Given the description of an element on the screen output the (x, y) to click on. 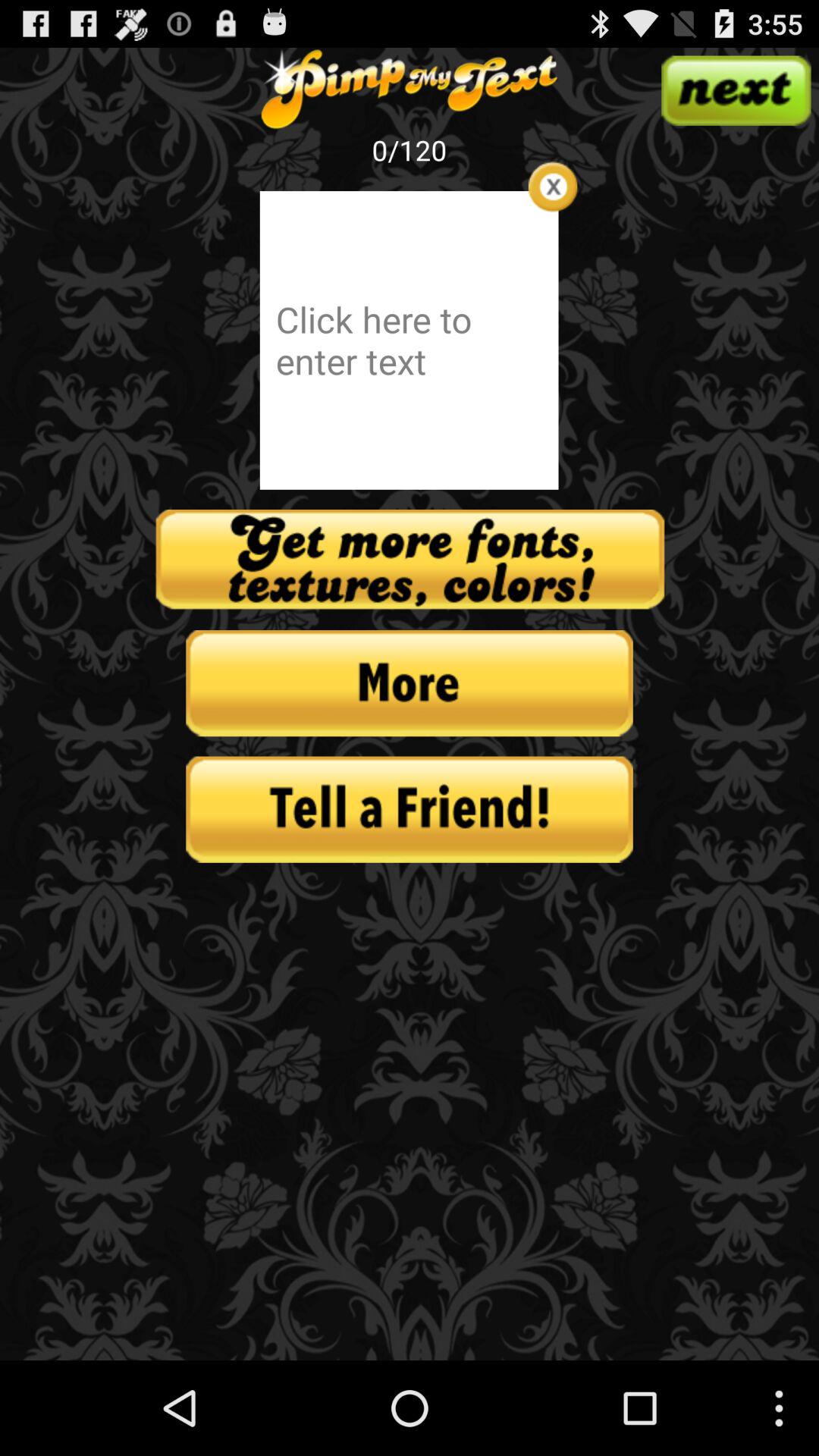
create your more design (409, 559)
